Given the description of an element on the screen output the (x, y) to click on. 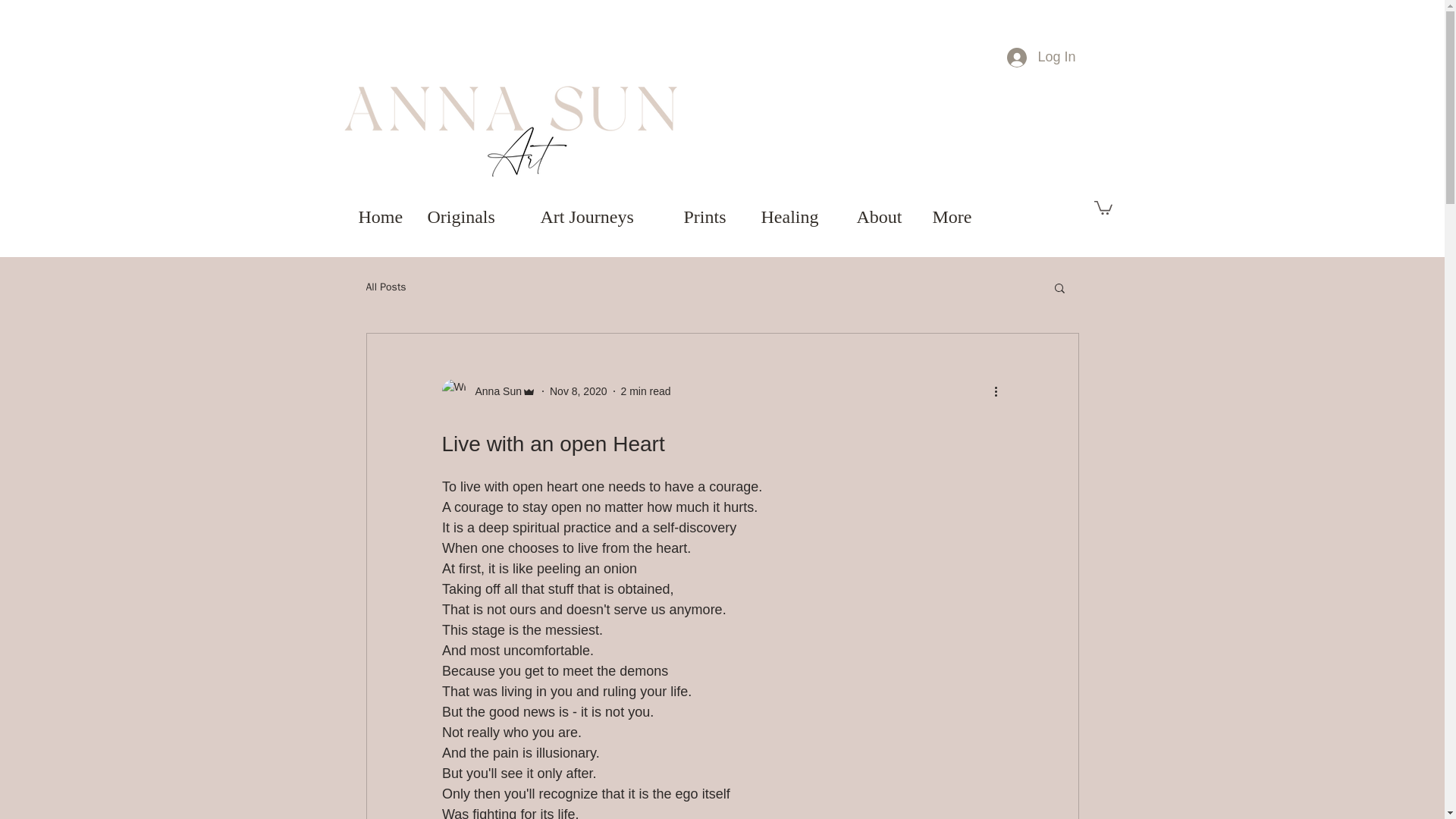
All Posts (385, 287)
About (886, 215)
Art Journeys (603, 215)
Anna Sun (493, 391)
2 min read (644, 390)
Log In (1040, 57)
Nov 8, 2020 (578, 390)
Anna Sun (488, 391)
Home (384, 215)
